Given the description of an element on the screen output the (x, y) to click on. 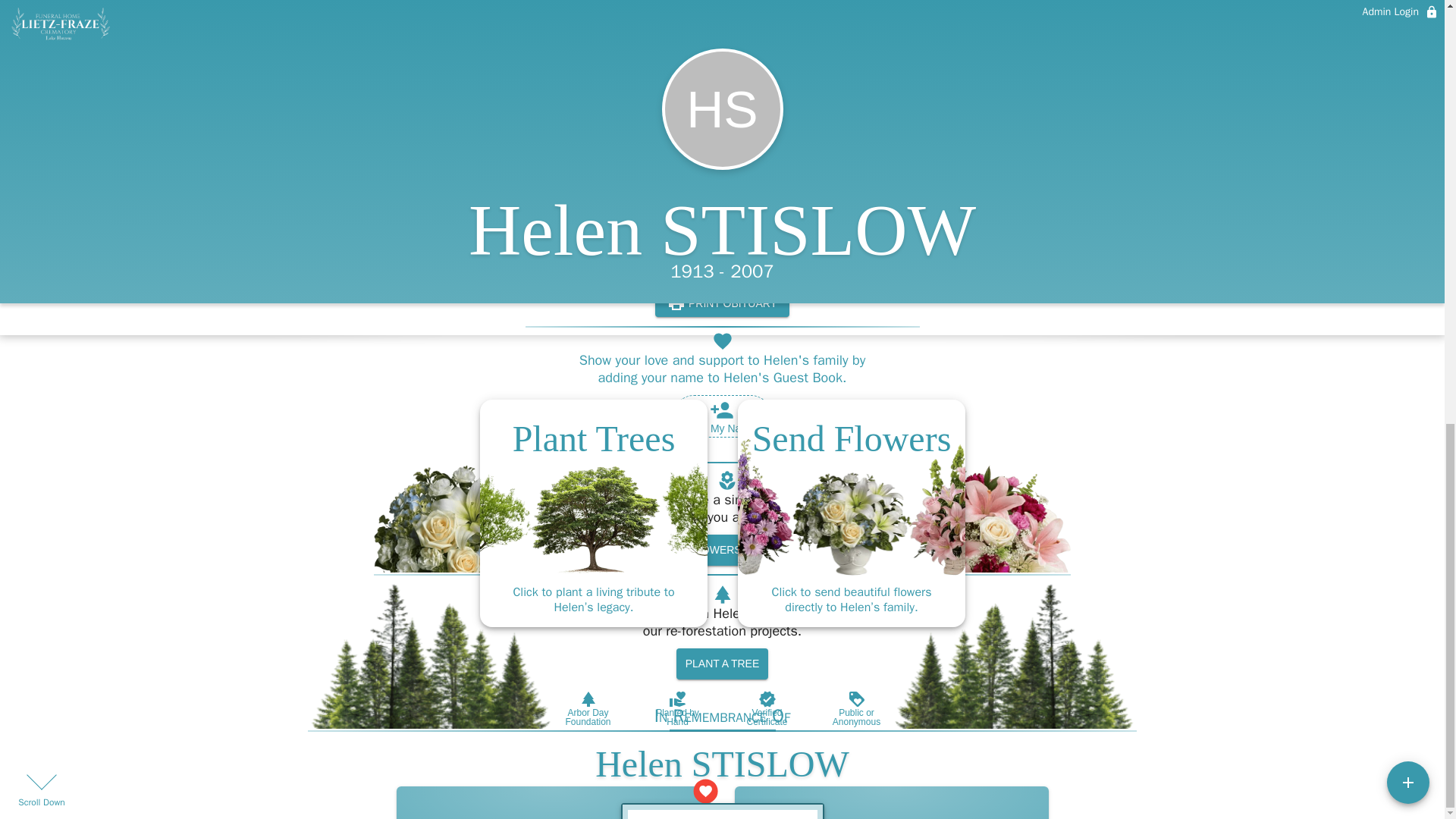
Add My Name (721, 415)
Planted by Hand (676, 708)
READ MORE (721, 272)
Arbor Day Foundation (587, 708)
 PRINT OBITUARY (722, 302)
SEND FLOWERS TO FAMILY (727, 549)
Public or Anonymous (855, 708)
Verified Certificate (766, 708)
PLANT A TREE (722, 663)
